Given the description of an element on the screen output the (x, y) to click on. 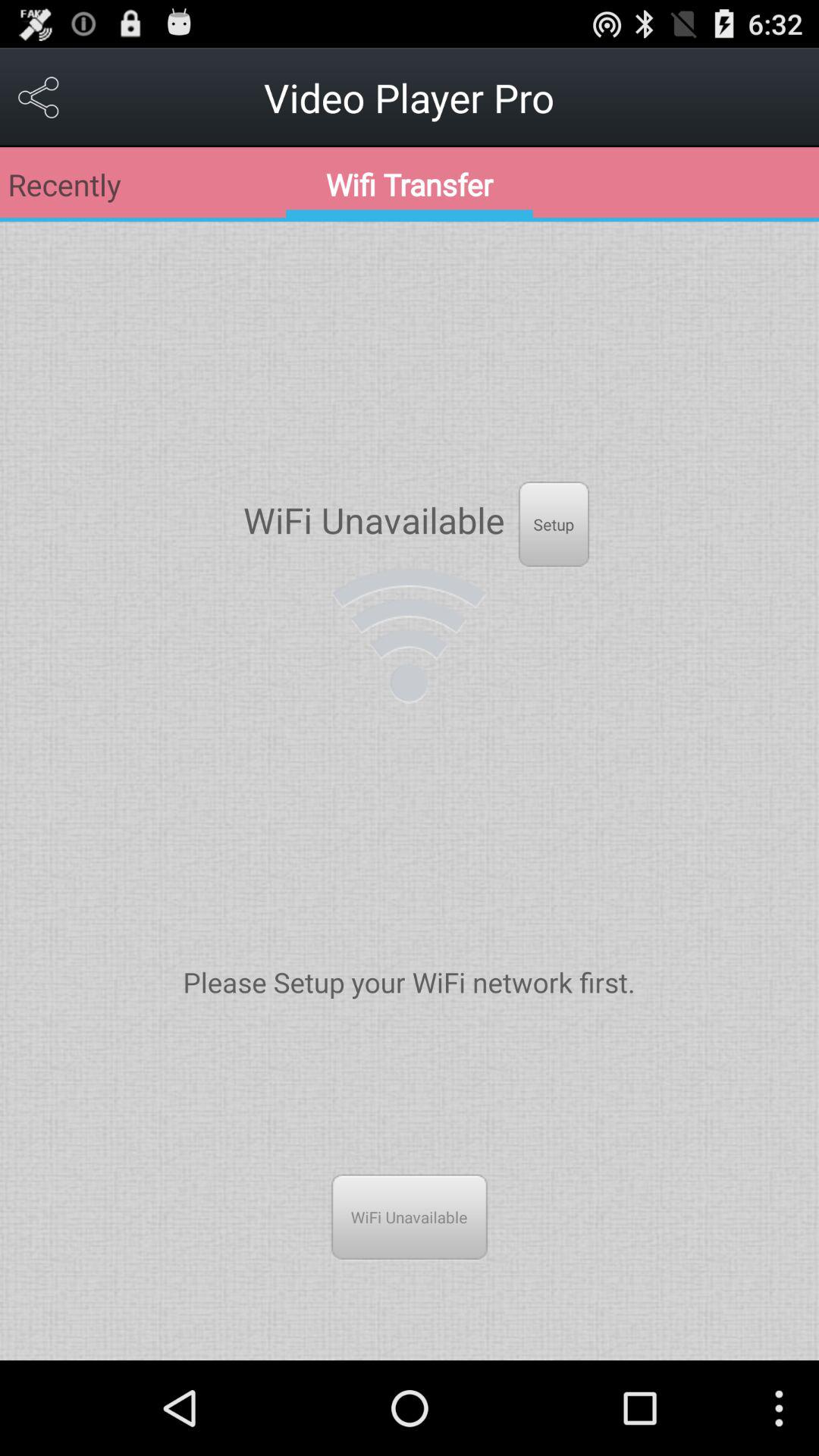
turn off the app next to the video player pro icon (39, 97)
